Given the description of an element on the screen output the (x, y) to click on. 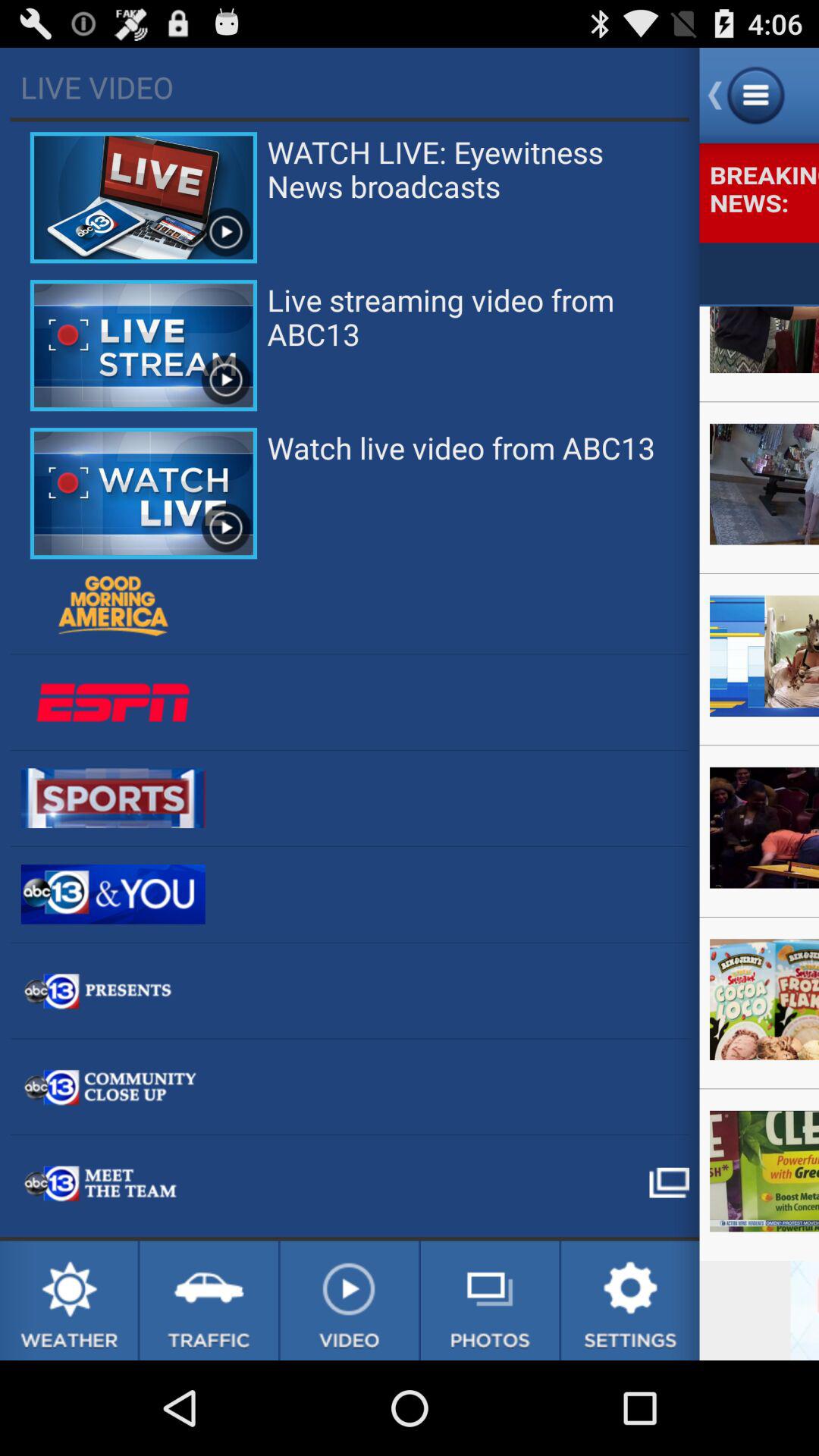
open weather tab (68, 1300)
